Given the description of an element on the screen output the (x, y) to click on. 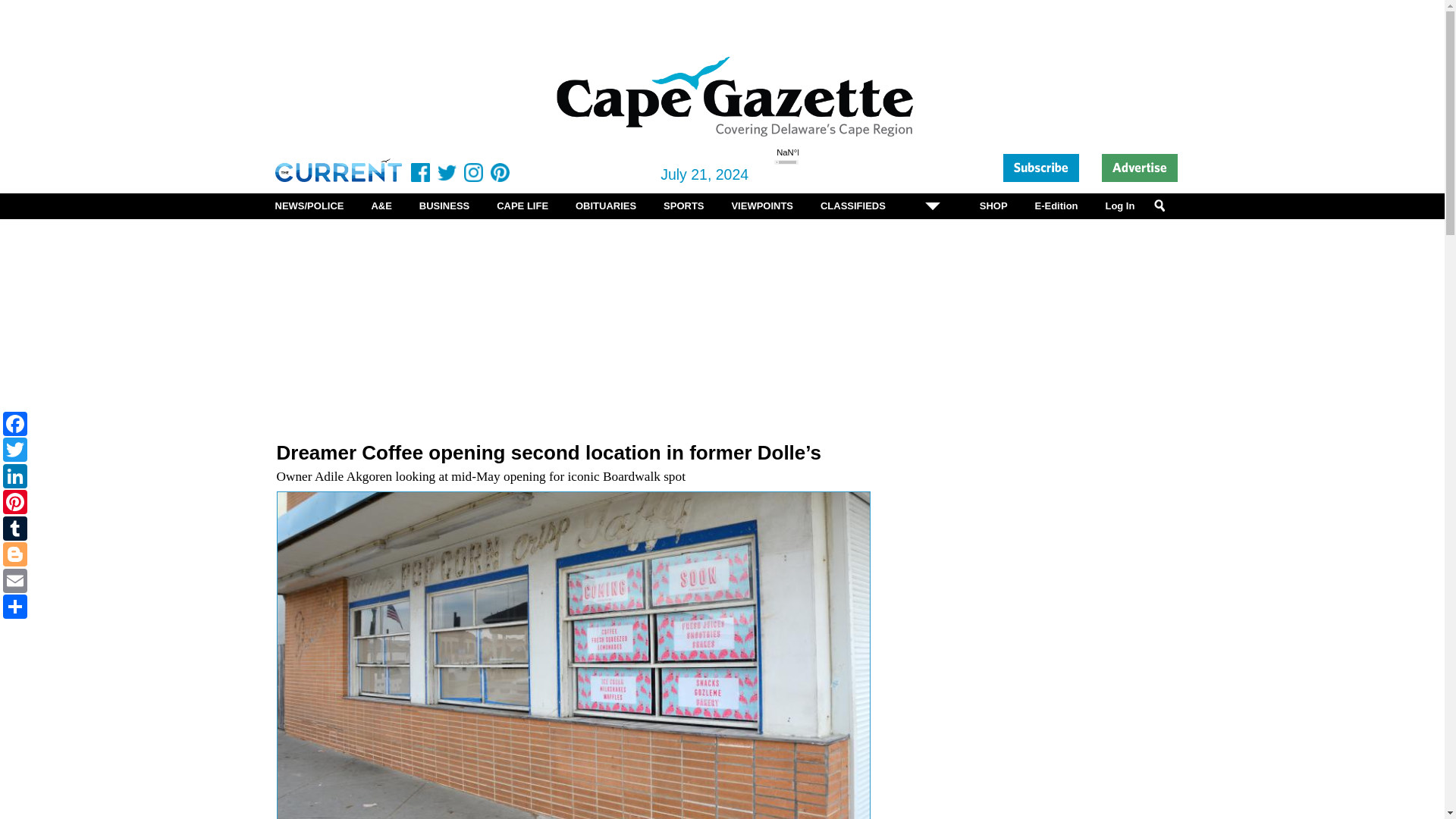
Weather Widget (804, 169)
